Given the description of an element on the screen output the (x, y) to click on. 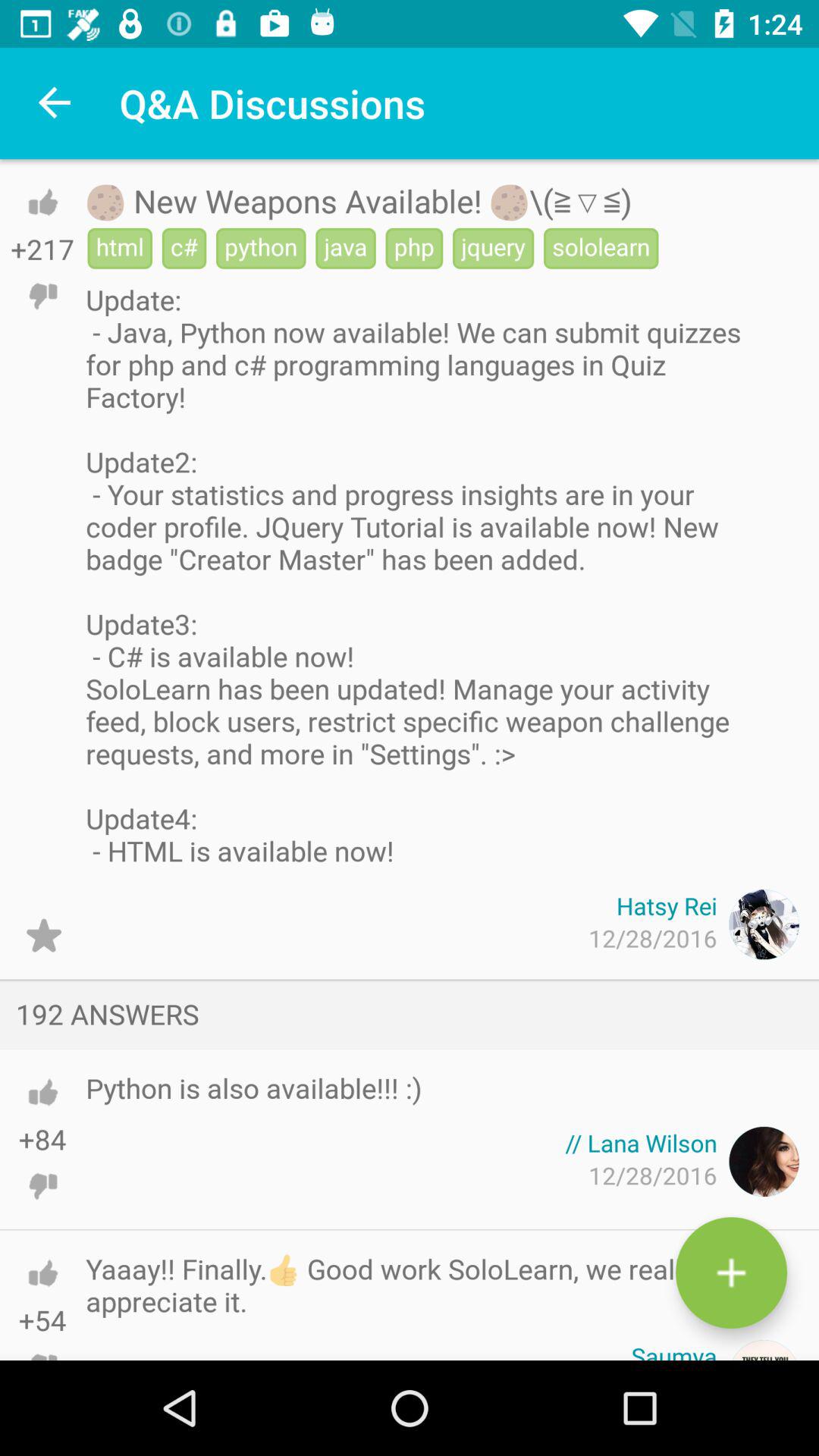
jump to the yaaay finally good (424, 1285)
